Given the description of an element on the screen output the (x, y) to click on. 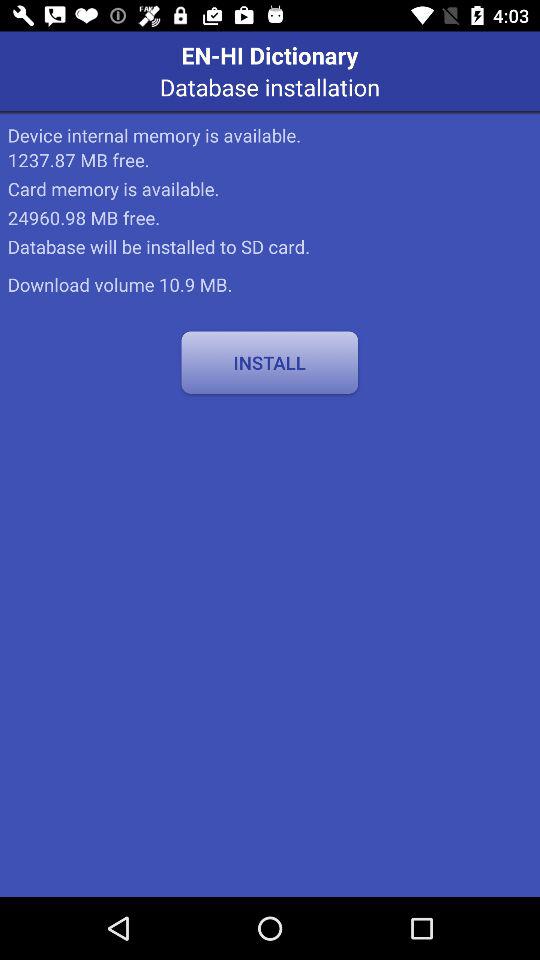
select app below download volume 10 icon (269, 362)
